Given the description of an element on the screen output the (x, y) to click on. 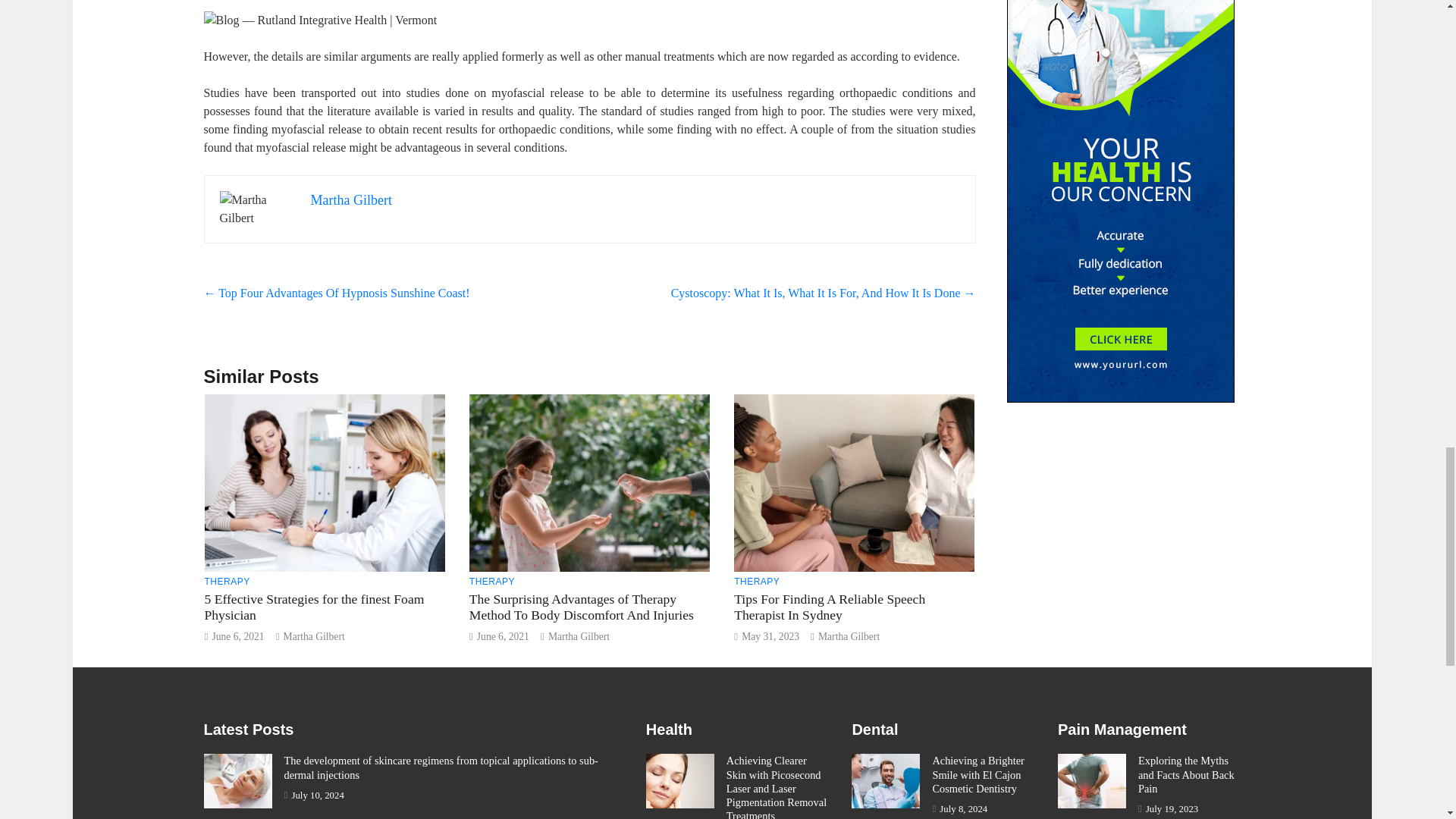
Martha Gilbert (351, 200)
THERAPY (491, 581)
June 6, 2021 (503, 636)
5 Effective Strategies for the finest Foam Physician (315, 606)
THERAPY (755, 581)
June 6, 2021 (237, 636)
Martha Gilbert (314, 636)
Martha Gilbert (579, 636)
THERAPY (227, 581)
